Given the description of an element on the screen output the (x, y) to click on. 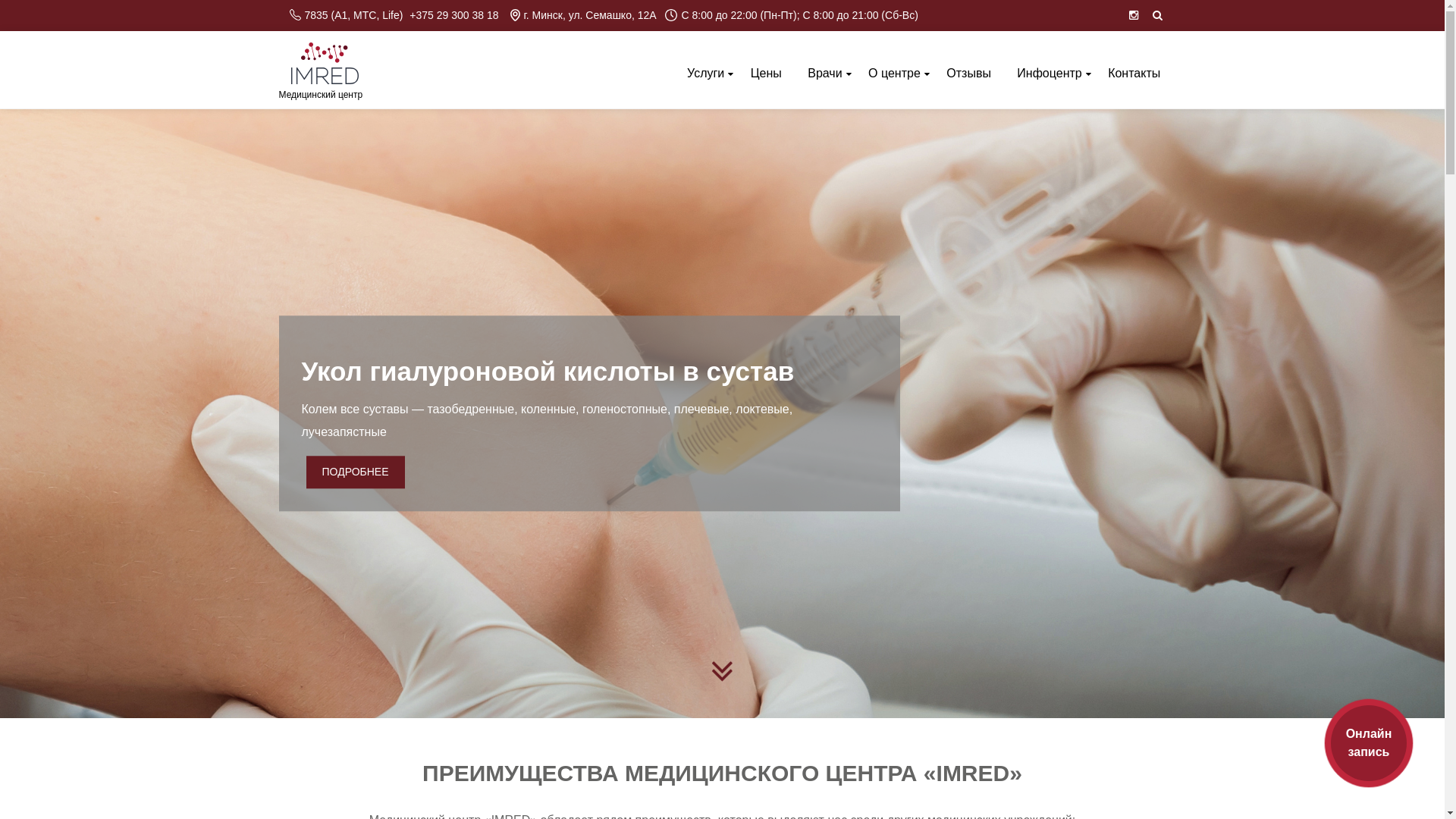
7835 (A1, MTC, Life) Element type: text (346, 15)
+375 29 300 38 18 Element type: text (455, 15)
